Given the description of an element on the screen output the (x, y) to click on. 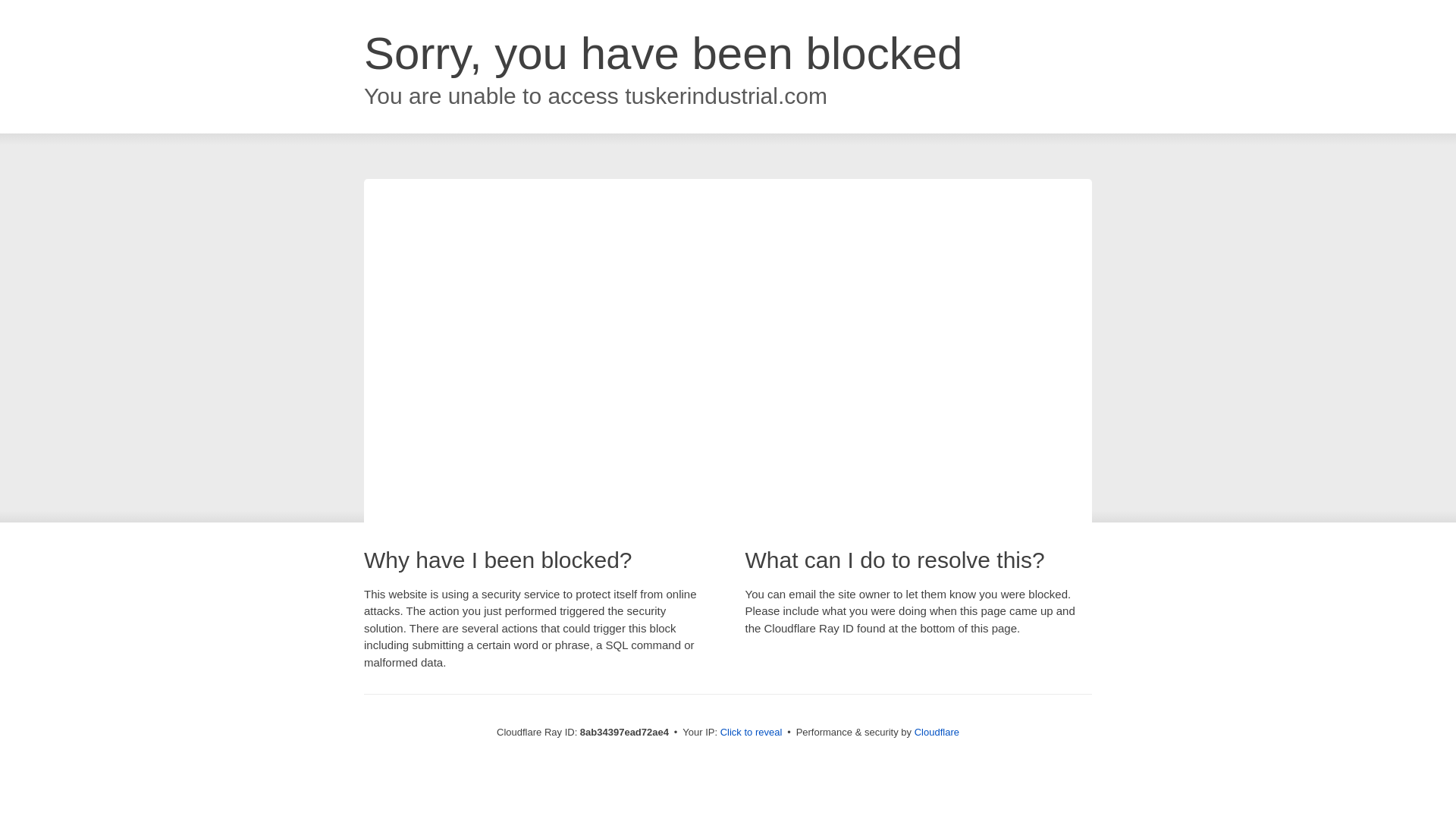
Click to reveal (751, 732)
Cloudflare (936, 731)
